Given the description of an element on the screen output the (x, y) to click on. 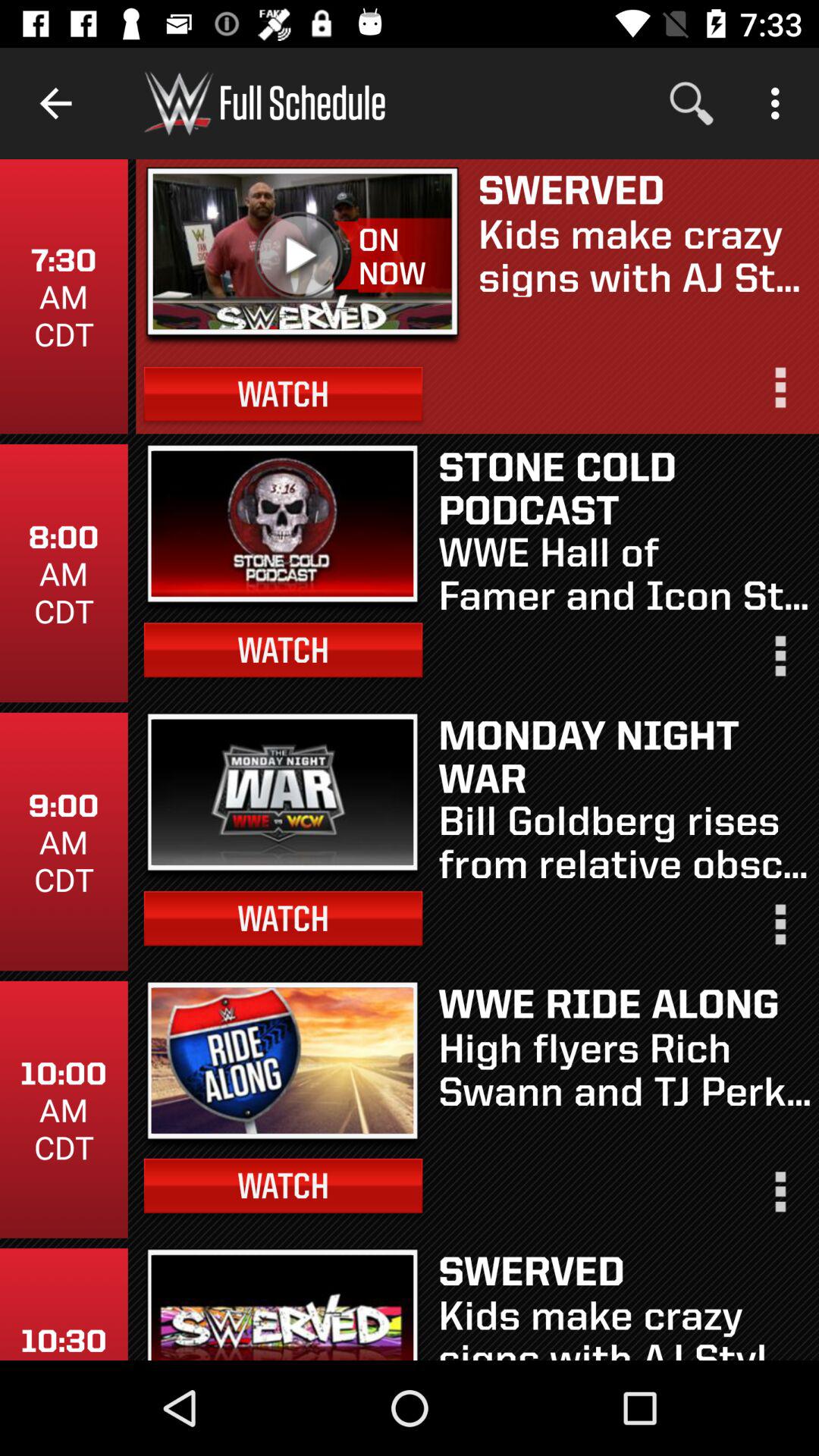
open the icon above the high flyers rich (624, 1003)
